Given the description of an element on the screen output the (x, y) to click on. 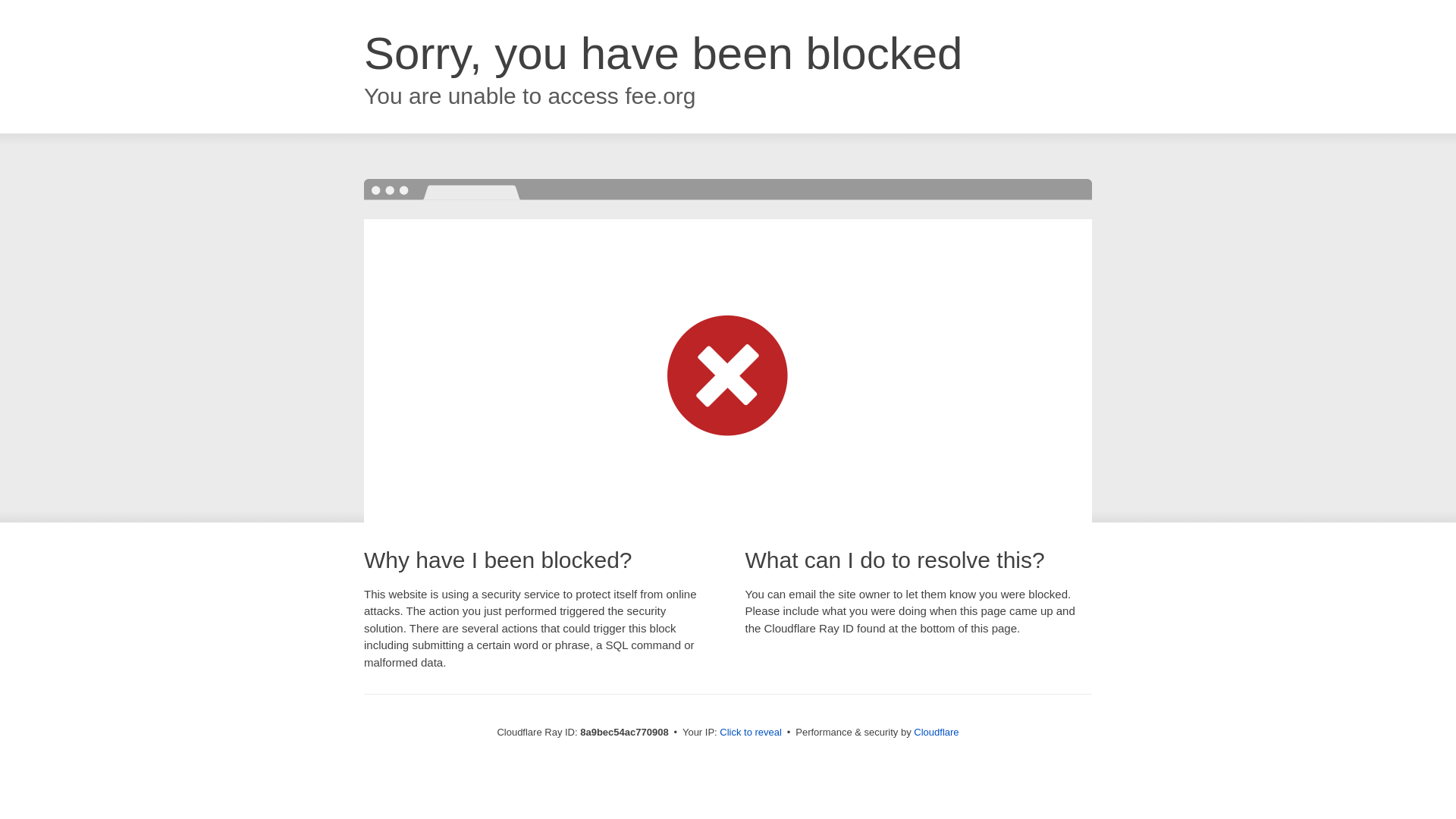
Cloudflare (936, 731)
Click to reveal (750, 732)
